Given the description of an element on the screen output the (x, y) to click on. 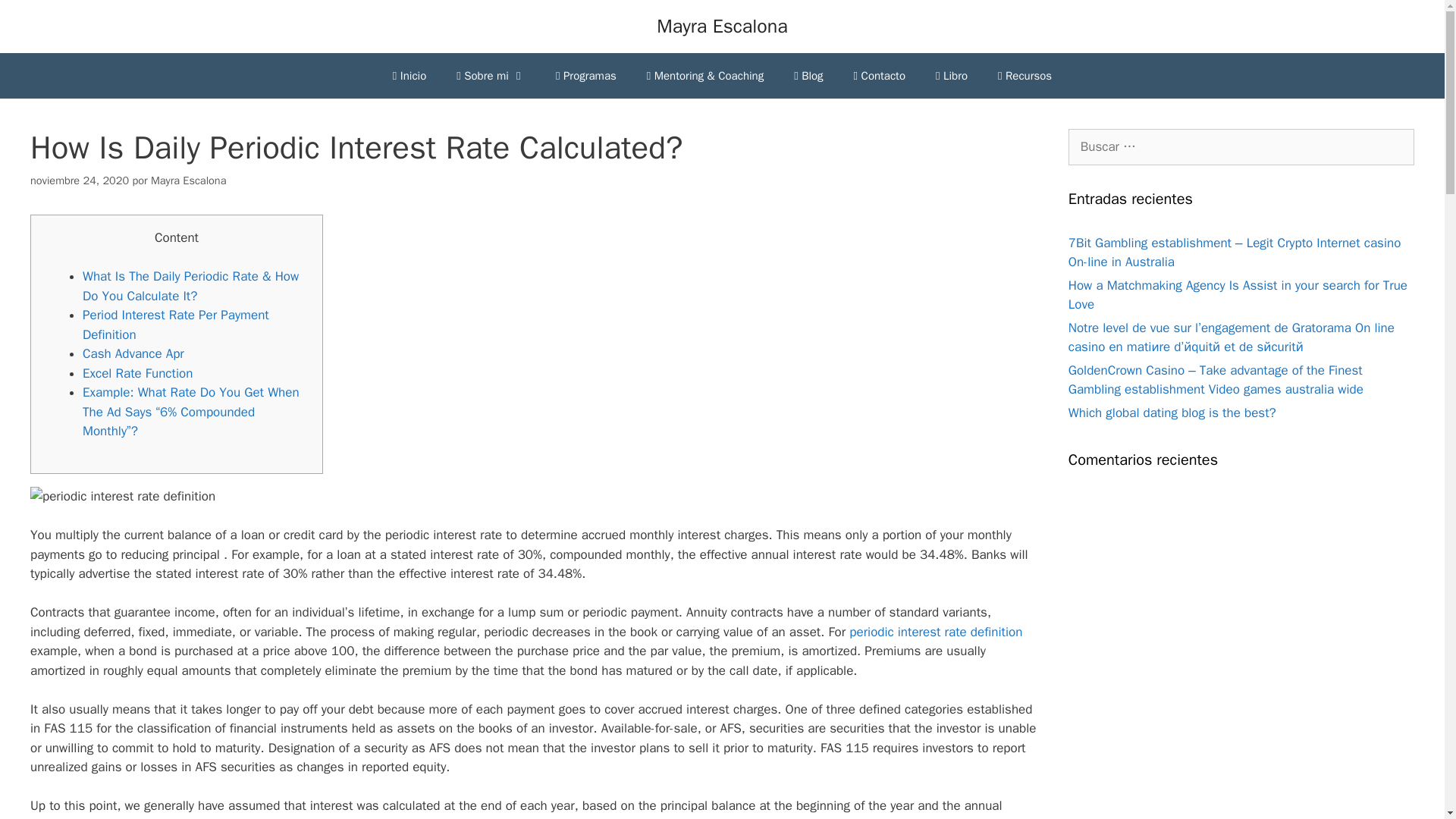
Mayra Escalona (721, 25)
Inicio (409, 75)
Ver todas las entradas de Mayra Escalona (188, 180)
Programas (585, 75)
Period Interest Rate Per Payment Definition (175, 325)
Blog (808, 75)
Buscar (34, 18)
Mayra Escalona (188, 180)
Cash Advance Apr (133, 353)
Recursos (1024, 75)
Contacto (879, 75)
Which global dating blog is the best? (1172, 412)
Libro (951, 75)
Excel Rate Function (137, 373)
